Given the description of an element on the screen output the (x, y) to click on. 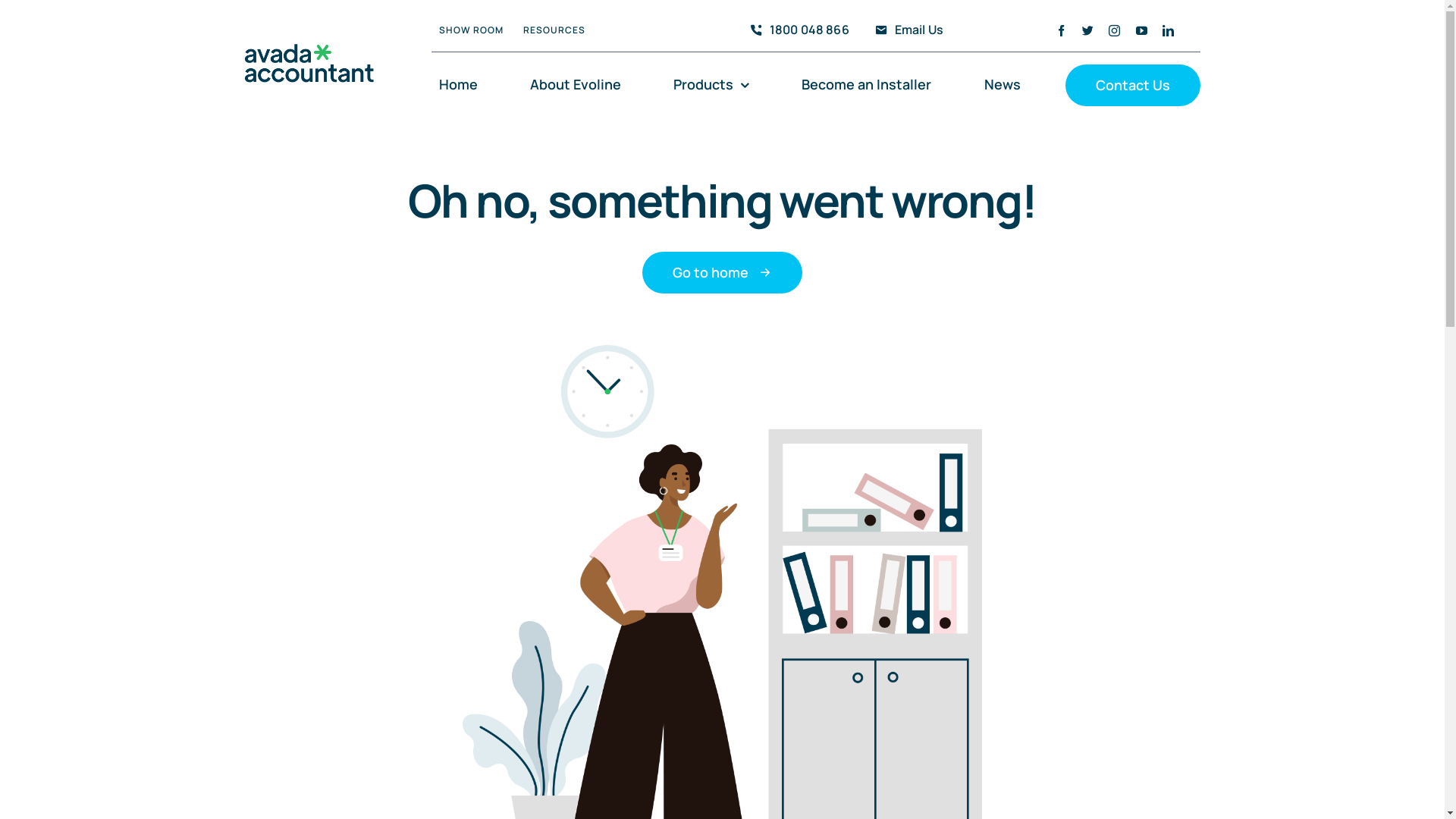
Go to home Element type: text (722, 272)
News Element type: text (1002, 85)
Products Element type: text (710, 85)
SHOW ROOM Element type: text (471, 30)
Contact Us Element type: text (1132, 85)
Become an Installer Element type: text (865, 85)
1800 048 866 Element type: text (796, 30)
Home Element type: text (458, 85)
RESOURCES Element type: text (554, 30)
About Evoline Element type: text (575, 85)
Email Us Element type: text (905, 30)
